Given the description of an element on the screen output the (x, y) to click on. 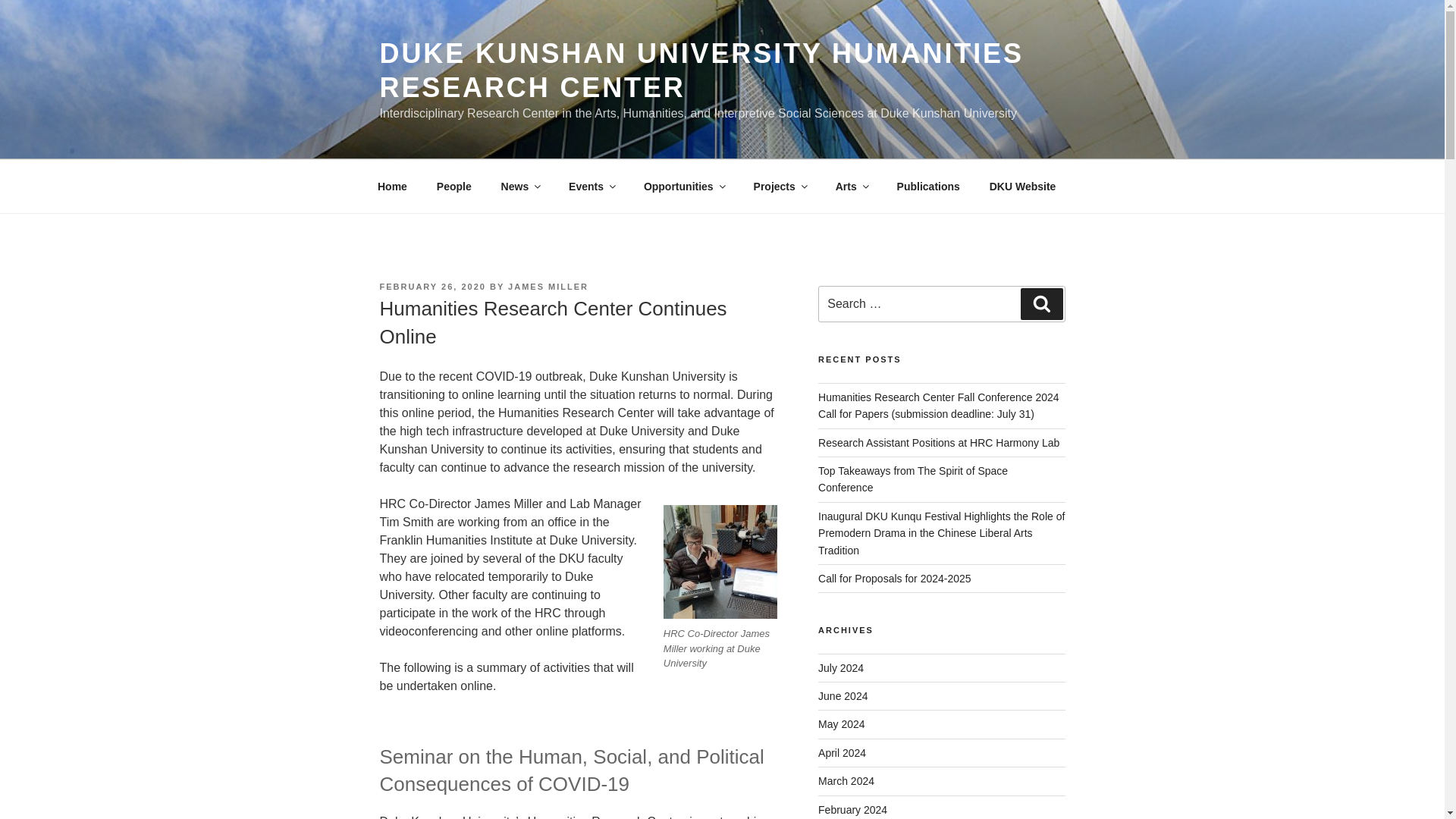
People (453, 186)
Projects (778, 186)
Opportunities (683, 186)
Home (392, 186)
DUKE KUNSHAN UNIVERSITY HUMANITIES RESEARCH CENTER (700, 70)
News (520, 186)
Events (591, 186)
